Given the description of an element on the screen output the (x, y) to click on. 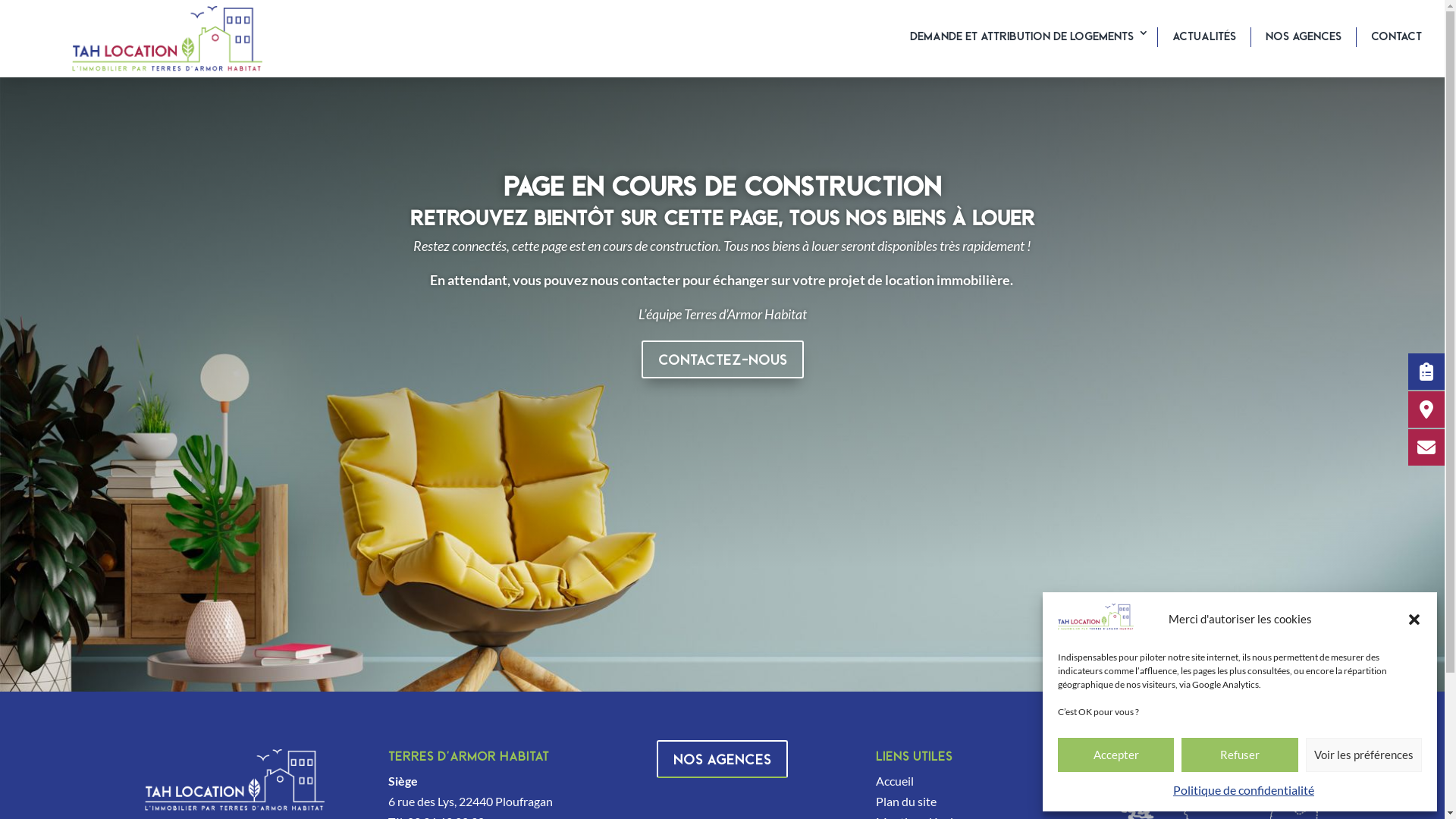
DEMANDE ET ATTRIBUTION DE LOGEMENTS Element type: text (1025, 37)
logo-TAH-location---Cotes-d'Armor-office-public-de-l'habitat Element type: hover (167, 39)
Refuser Element type: text (1239, 754)
NOS AGENCES Element type: text (721, 759)
Accepter Element type: text (1115, 754)
CONTACT Element type: text (1396, 37)
Contactez-nous Element type: text (722, 359)
Accueil Element type: text (894, 780)
Plan du site Element type: text (905, 800)
NOS AGENCES Element type: text (1303, 37)
Logo-TAH-LOCATION-w Element type: hover (234, 780)
